Given the description of an element on the screen output the (x, y) to click on. 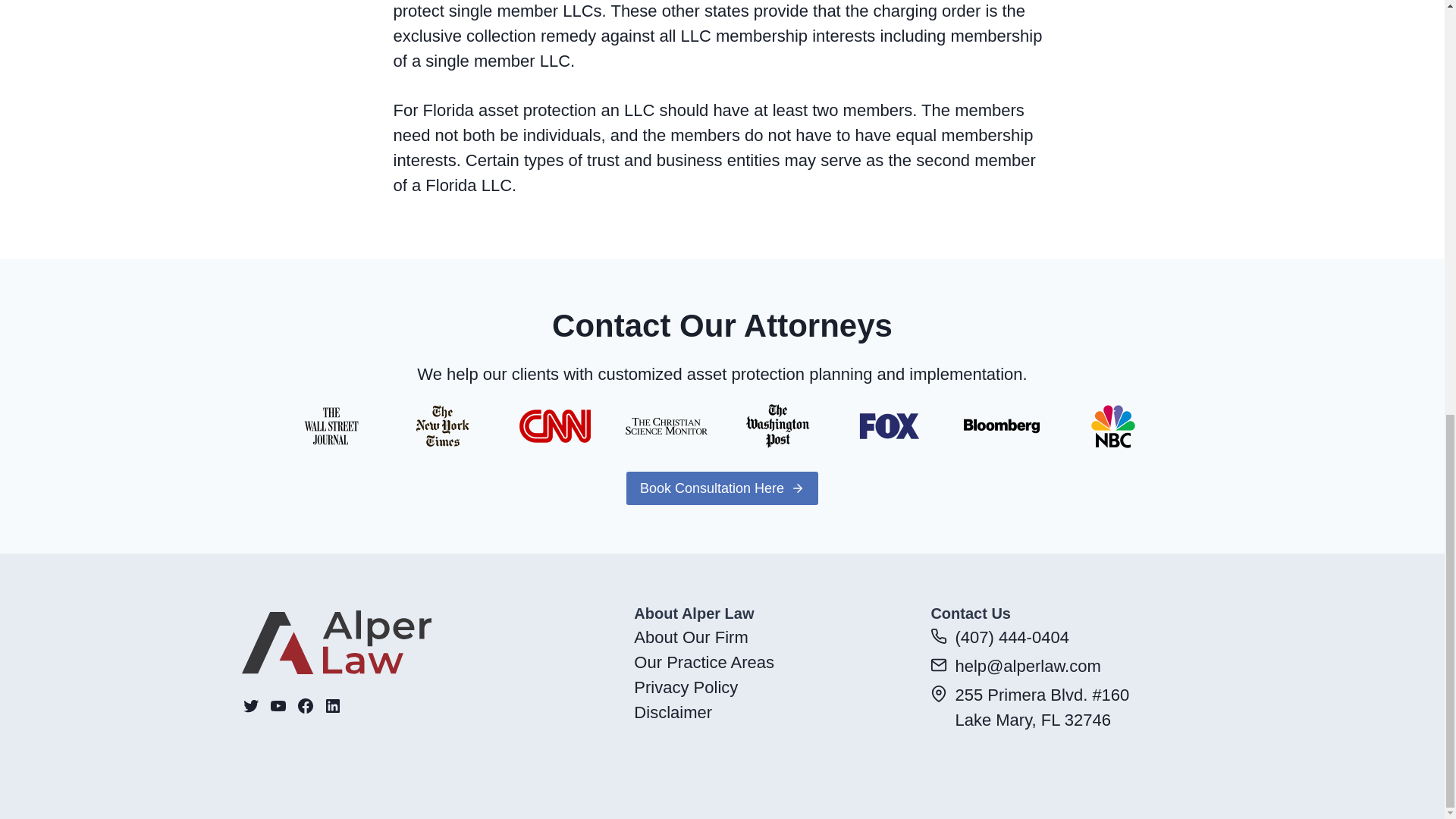
LinkedIn (331, 705)
YouTube (276, 705)
Facebook (304, 705)
About Our Firm (690, 637)
Twitter (250, 705)
Book Consultation Here (722, 487)
Privacy Policy (685, 687)
Our Practice Areas (703, 661)
Disclaimer (672, 711)
